Given the description of an element on the screen output the (x, y) to click on. 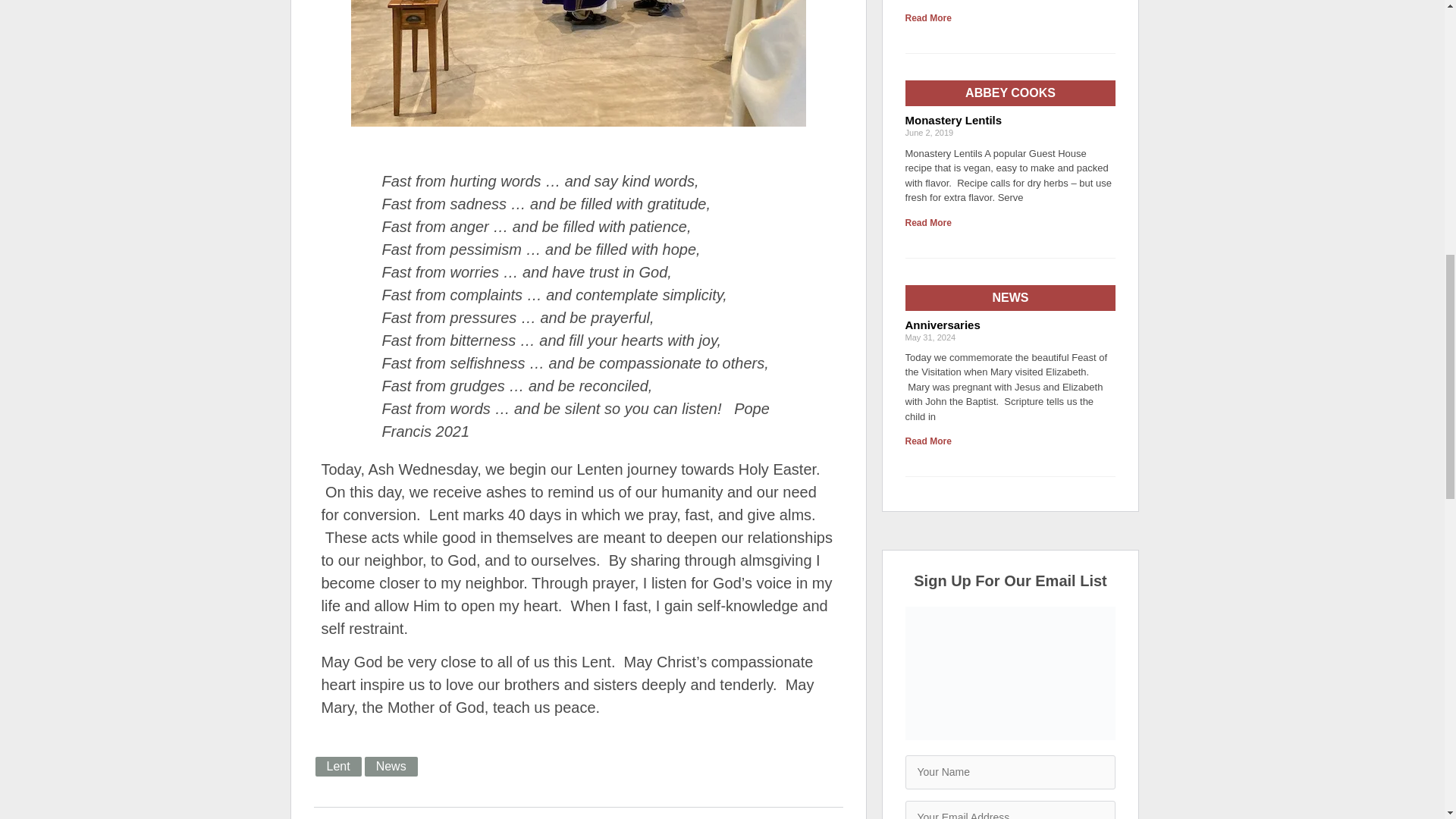
Lent (338, 766)
Read More (928, 18)
Read More (928, 440)
Read More (928, 222)
News (391, 766)
Anniversaries (942, 324)
Monastery Lentils (954, 119)
